Given the description of an element on the screen output the (x, y) to click on. 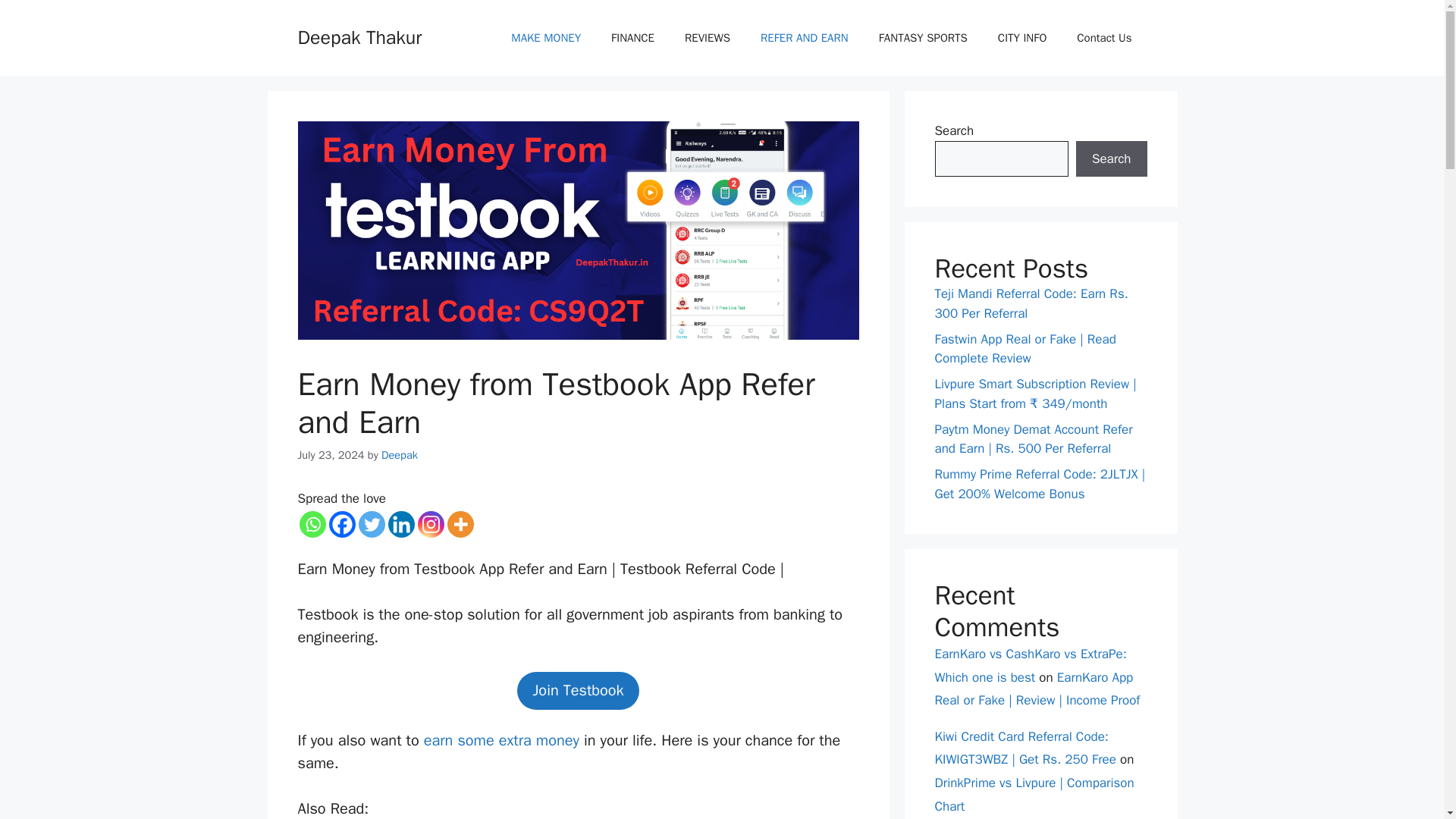
earn some extra money (501, 740)
Facebook (342, 524)
Whatsapp (311, 524)
Deepak (399, 454)
FANTASY SPORTS (922, 37)
Twitter (371, 524)
Contact Us (1104, 37)
Deepak Thakur (359, 37)
REVIEWS (707, 37)
CITY INFO (1021, 37)
